Given the description of an element on the screen output the (x, y) to click on. 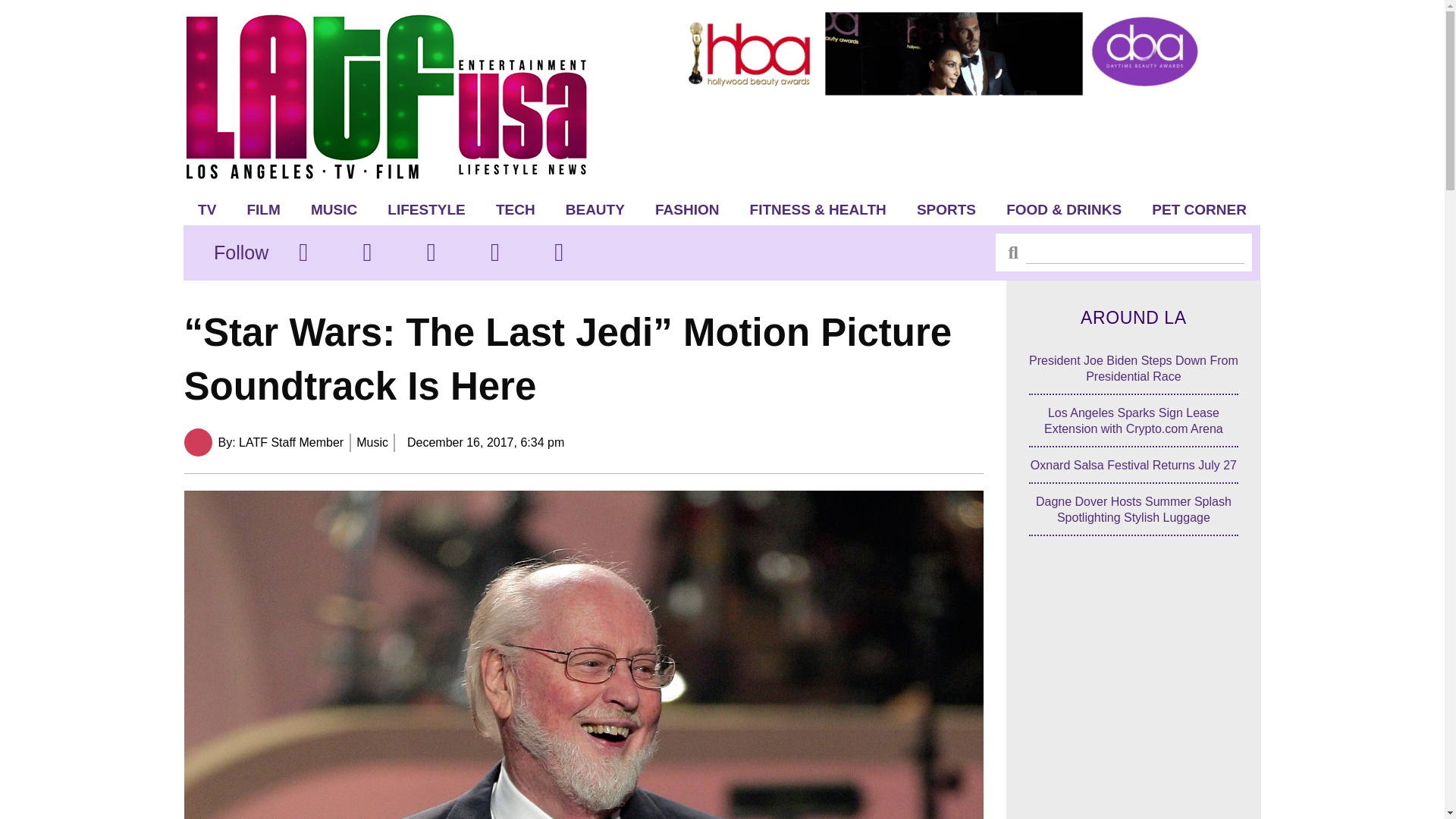
TV (207, 209)
LIFESTYLE (426, 209)
Advertisement (1134, 703)
PET CORNER (1199, 209)
FILM (263, 209)
Advertisement (955, 141)
SPORTS (946, 209)
MUSIC (333, 209)
TECH (515, 209)
BEAUTY (595, 209)
FASHION (687, 209)
